Given the description of an element on the screen output the (x, y) to click on. 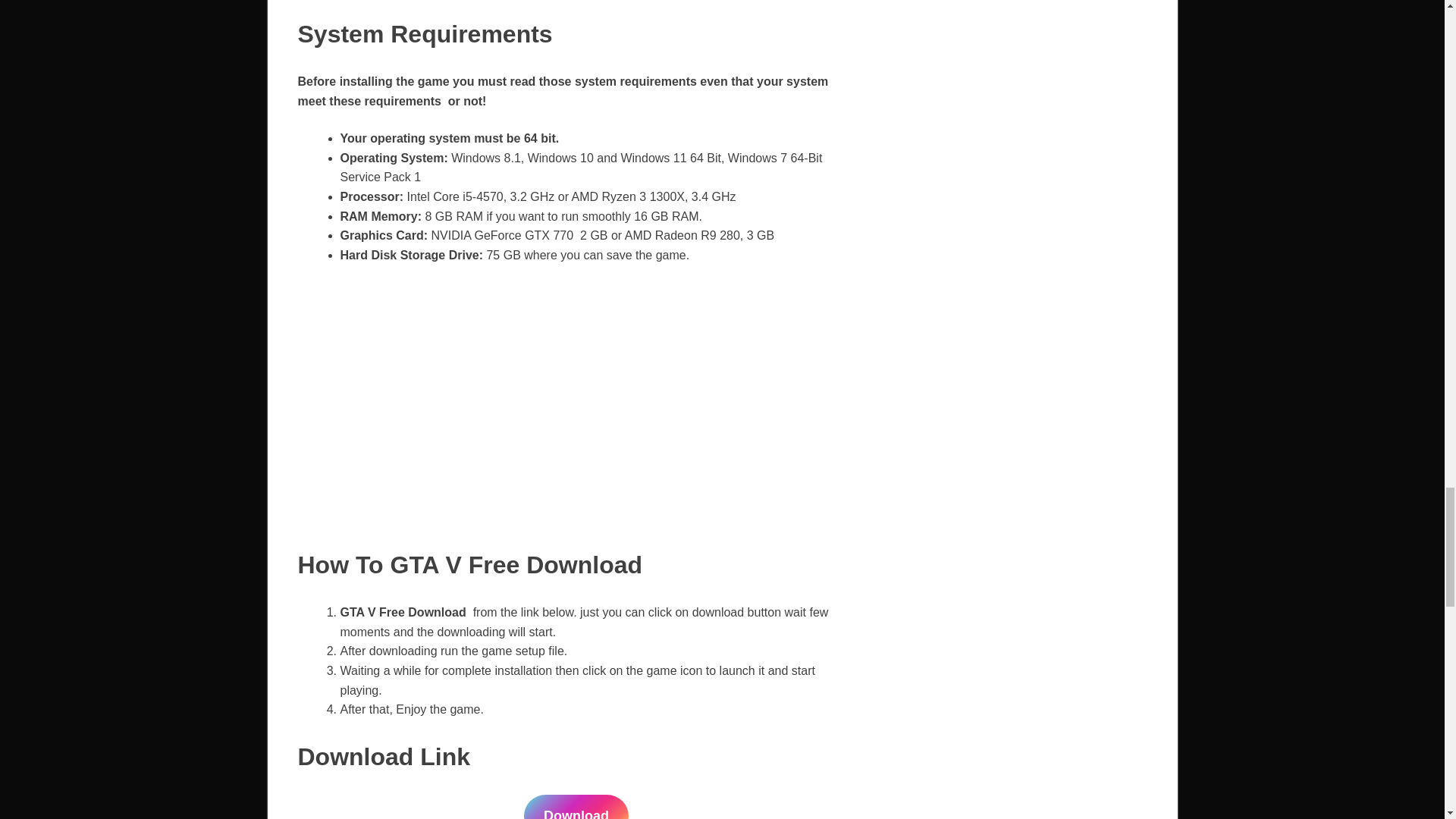
Grand Theft Auto V Trailer (509, 401)
